Given the description of an element on the screen output the (x, y) to click on. 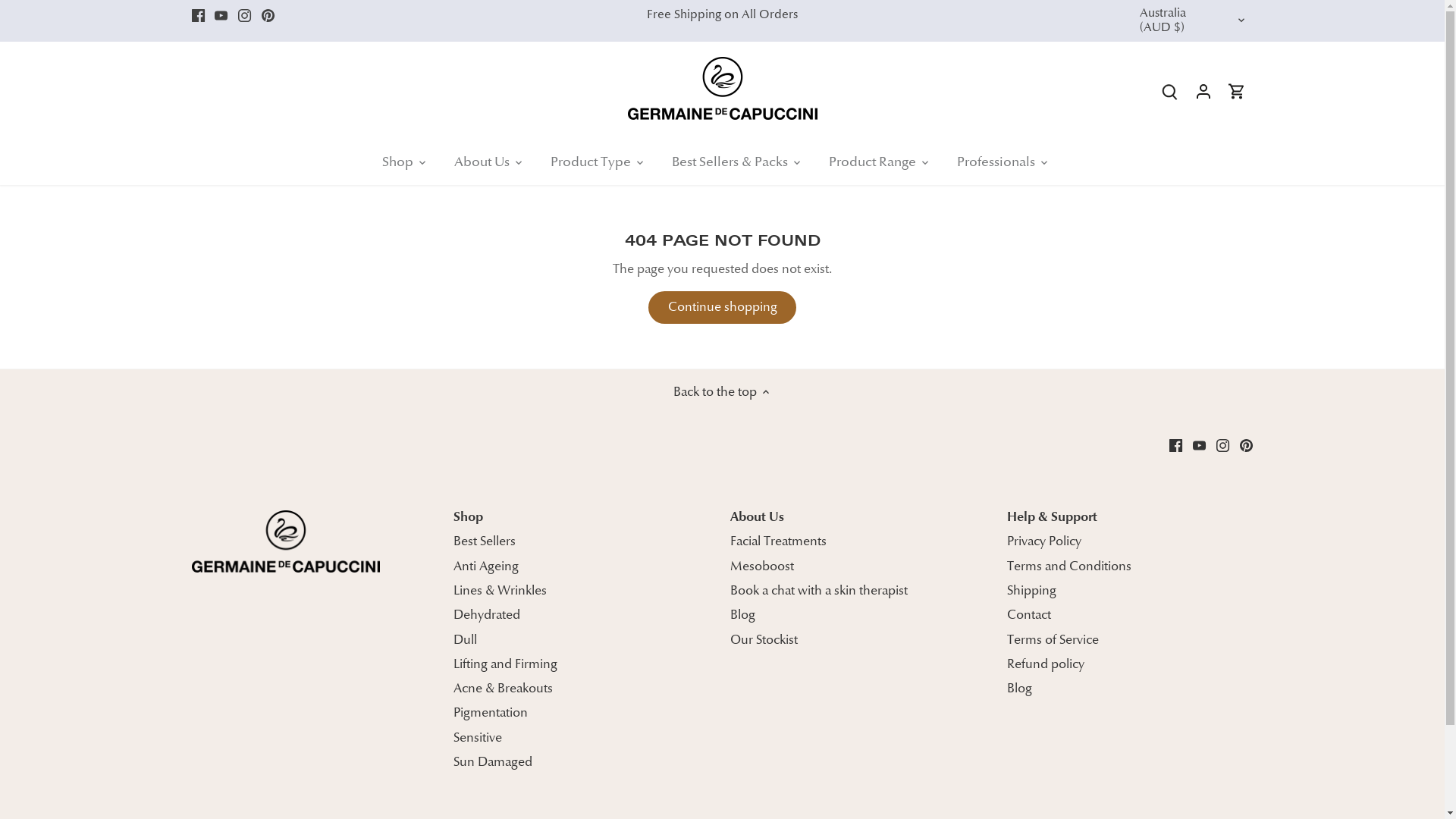
Best Sellers Element type: text (484, 541)
Facebook Element type: text (197, 15)
Help & Support Element type: text (1052, 516)
Lifting and Firming Element type: text (505, 663)
Blog Element type: text (1019, 688)
Facebook Element type: text (1175, 444)
Acne & Breakouts Element type: text (502, 688)
Youtube Element type: text (220, 15)
Shop Element type: text (404, 162)
Blog Element type: text (742, 614)
Instagram Element type: text (244, 15)
Instagram Element type: text (1222, 444)
Back to the top Element type: text (722, 391)
Australia (AUD $) Element type: text (1192, 20)
Go to cart Element type: hover (1236, 90)
Contact Element type: text (1029, 614)
Pinterest Element type: text (1245, 444)
Pigmentation Element type: text (490, 712)
Best Sellers & Packs Element type: text (729, 162)
Mesoboost Element type: text (761, 566)
Continue shopping Element type: text (722, 307)
Book a chat with a skin therapist Element type: text (818, 590)
Youtube Element type: text (1198, 444)
Product Type Element type: text (590, 162)
About Us Element type: text (757, 516)
Product Range Element type: text (872, 162)
Terms and Conditions Element type: text (1069, 566)
Sensitive Element type: text (477, 737)
Refund policy Element type: text (1045, 663)
Dehydrated Element type: text (486, 614)
Privacy Policy Element type: text (1044, 541)
Dull Element type: text (464, 639)
Our Stockist Element type: text (763, 639)
About Us Element type: text (481, 162)
Terms of Service Element type: text (1052, 639)
Pinterest Element type: text (267, 15)
Lines & Wrinkles Element type: text (499, 590)
Professionals Element type: text (995, 162)
Shipping Element type: text (1031, 590)
Shop Element type: text (468, 516)
Facial Treatments Element type: text (778, 541)
Anti Ageing Element type: text (485, 566)
Sun Damaged Element type: text (492, 761)
